Given the description of an element on the screen output the (x, y) to click on. 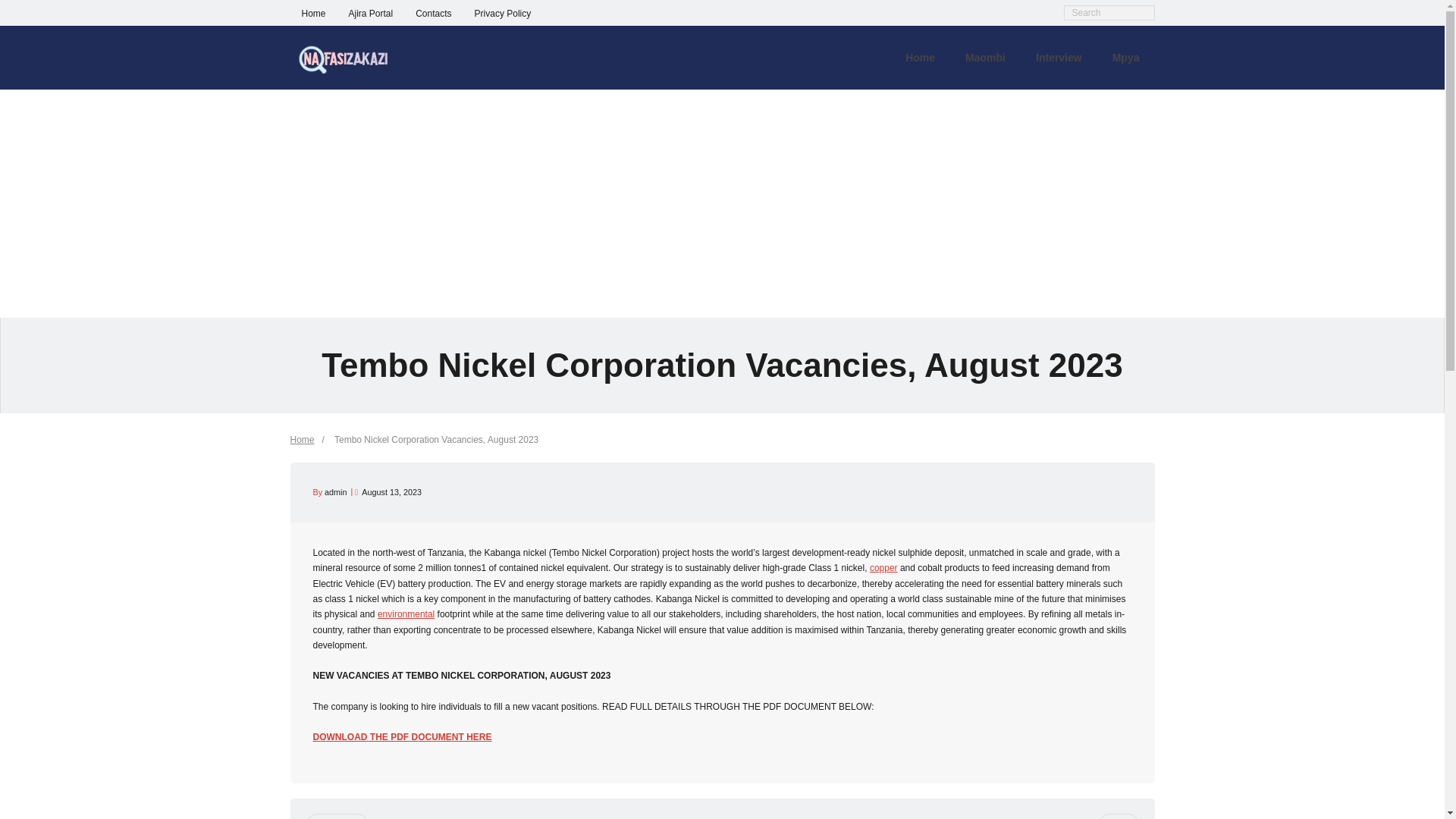
Mpya (1125, 57)
Home (301, 439)
View all posts by admin (335, 491)
Home (919, 57)
DOWNLOAD THE PDF DOCUMENT HERE (402, 737)
Tembo Nickel Corporation Vacancies, August 2023 (391, 491)
admin (335, 491)
PREVIOUS (336, 816)
Contacts (433, 12)
Ajira Portal (370, 12)
Privacy Policy (503, 12)
NEXT (1117, 816)
copper (883, 567)
Search (25, 10)
